Given the description of an element on the screen output the (x, y) to click on. 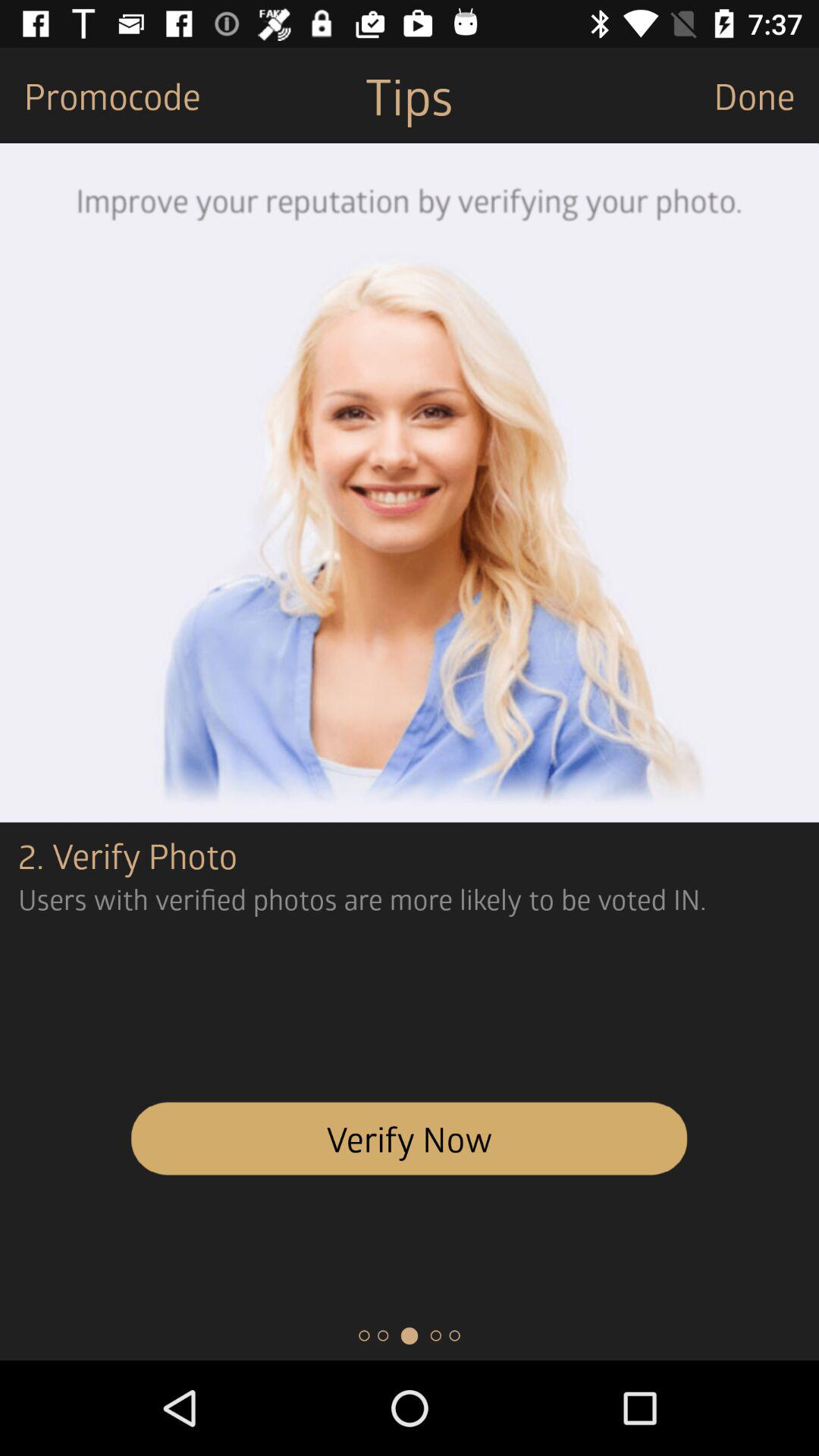
open the done icon (766, 95)
